Given the description of an element on the screen output the (x, y) to click on. 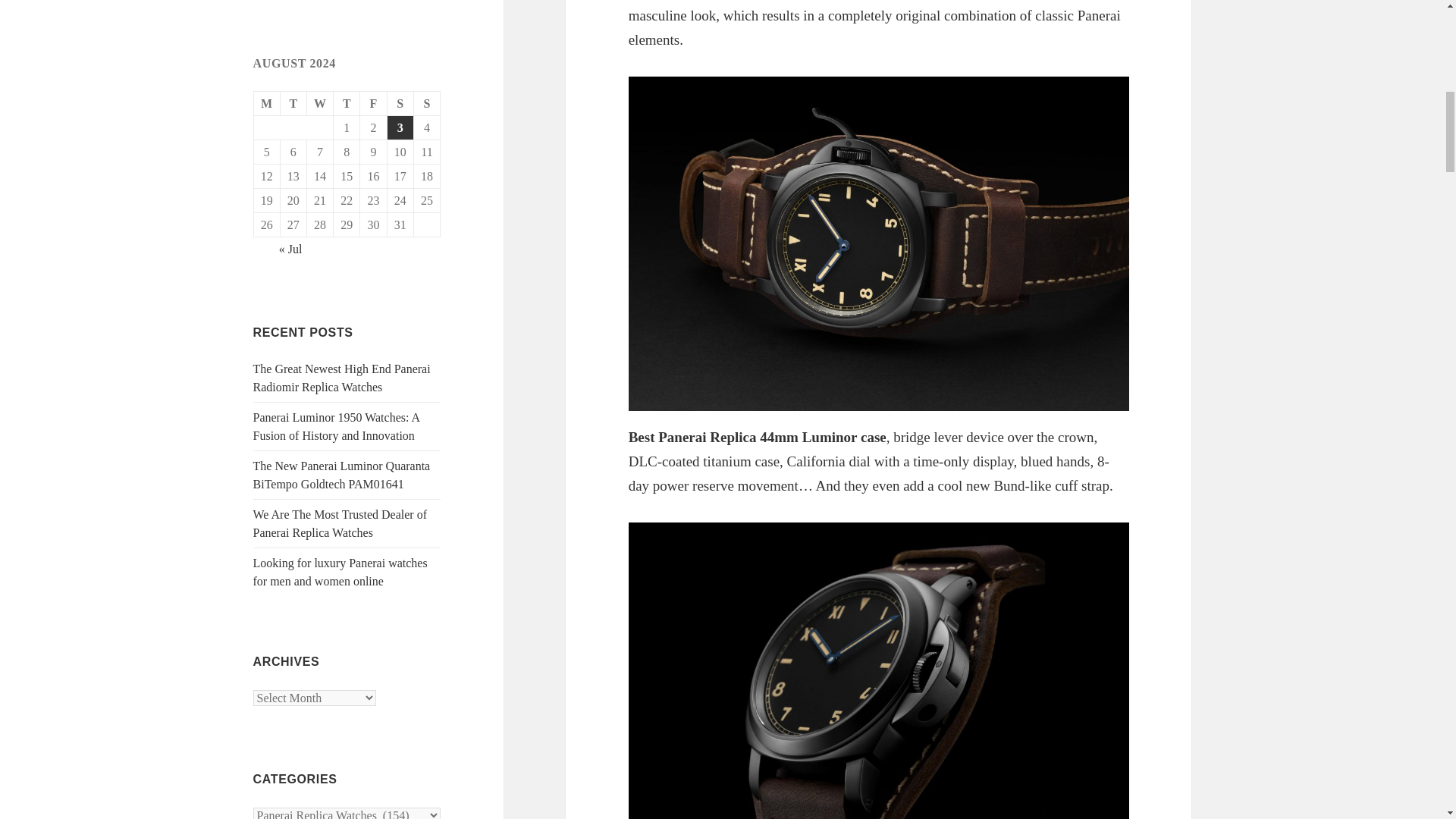
3 (400, 127)
Saturday (400, 103)
Monday (267, 103)
Tuesday (294, 103)
Sunday (427, 103)
Wednesday (320, 103)
We Are The Most Trusted Dealer of Panerai Replica Watches (340, 522)
The Great Newest High End Panerai Radiomir Replica Watches (341, 377)
Friday (373, 103)
Thursday (346, 103)
